Given the description of an element on the screen output the (x, y) to click on. 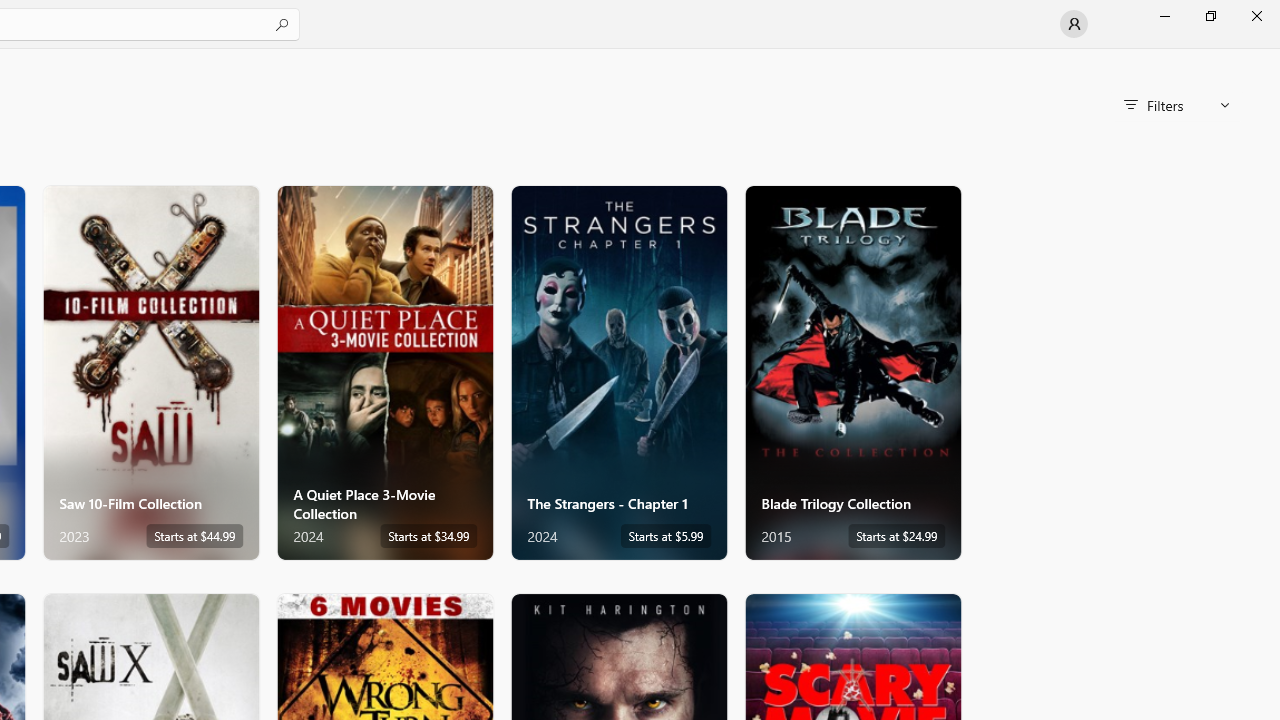
Minimize Microsoft Store (1164, 15)
Close Microsoft Store (1256, 15)
User profile (1073, 24)
A Quiet Place 3-Movie Collection. Starts at $34.99   (385, 372)
Restore Microsoft Store (1210, 15)
Filters (1176, 105)
Saw 10-Film Collection. Starts at $44.99   (150, 372)
Blade Trilogy Collection. Starts at $24.99   (852, 372)
